Given the description of an element on the screen output the (x, y) to click on. 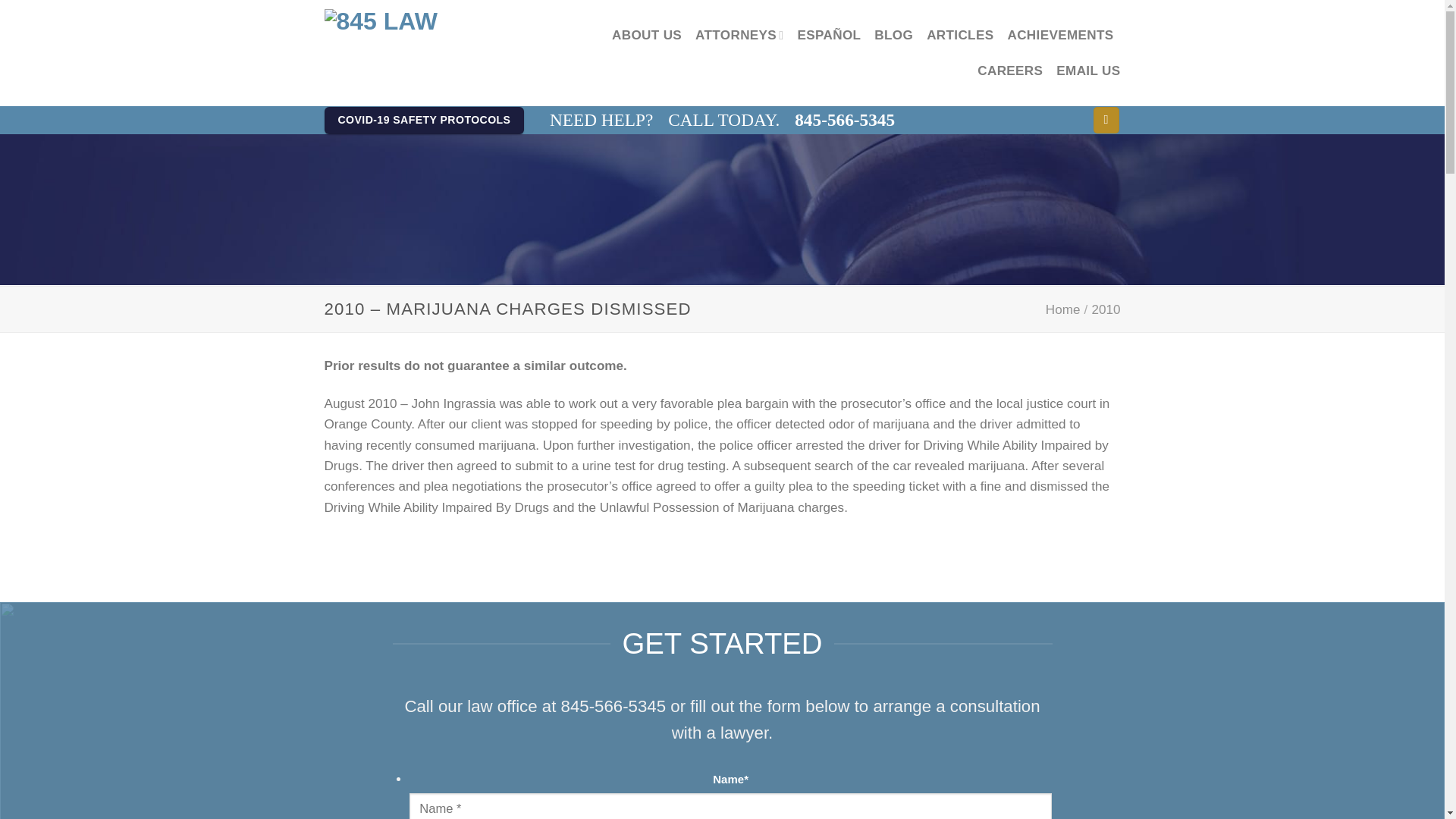
ATTORNEYS (739, 35)
EMAIL US (1088, 70)
COVID-19 SAFETY PROTOCOLS (424, 120)
2010 (1104, 309)
ARTICLES (959, 35)
CAREERS (1009, 70)
845-566-5345 (613, 705)
ABOUT US (646, 35)
845-566-5345 (844, 120)
BLOG (893, 35)
